Given the description of an element on the screen output the (x, y) to click on. 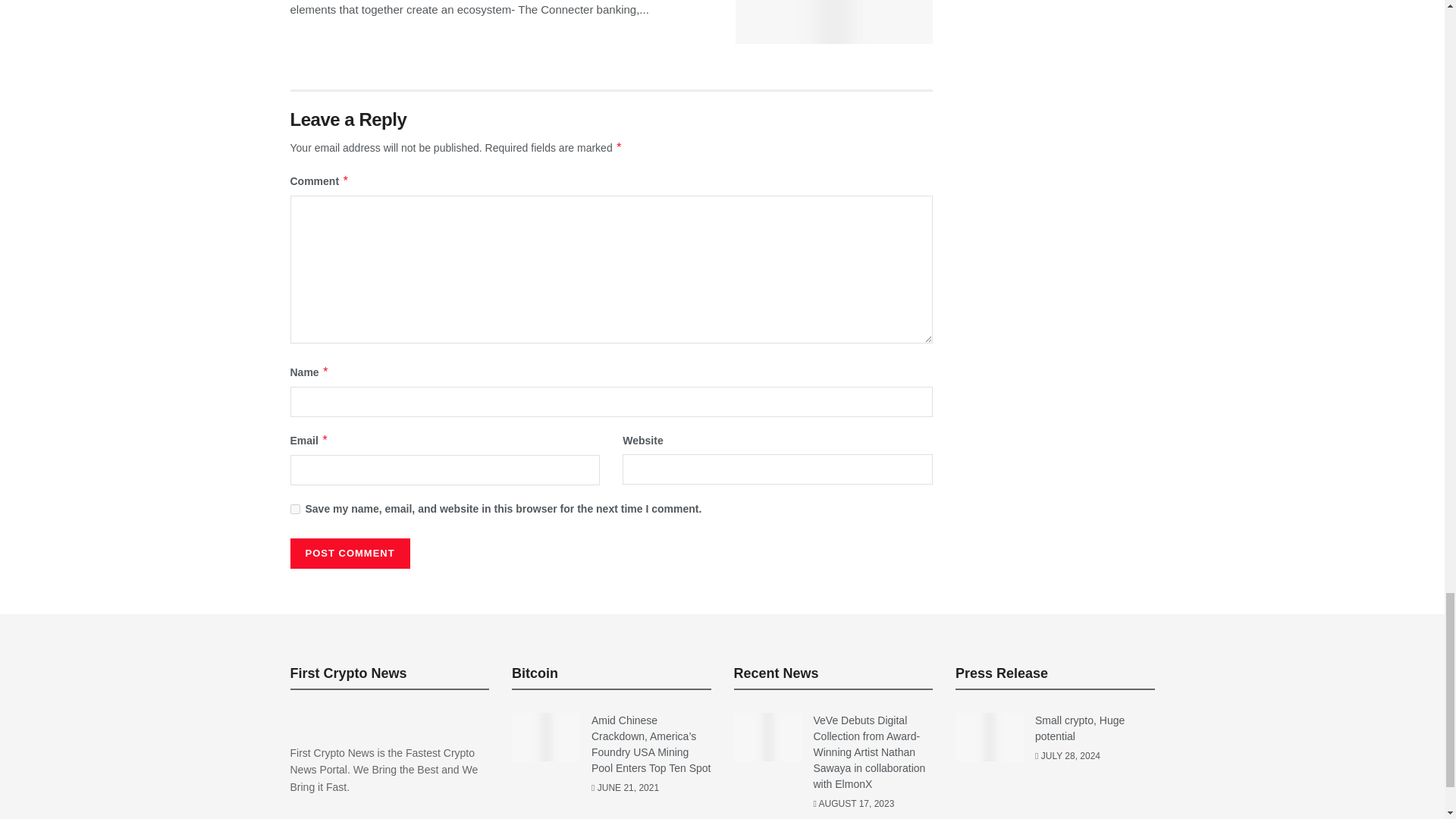
yes (294, 509)
Post Comment (349, 553)
